Given the description of an element on the screen output the (x, y) to click on. 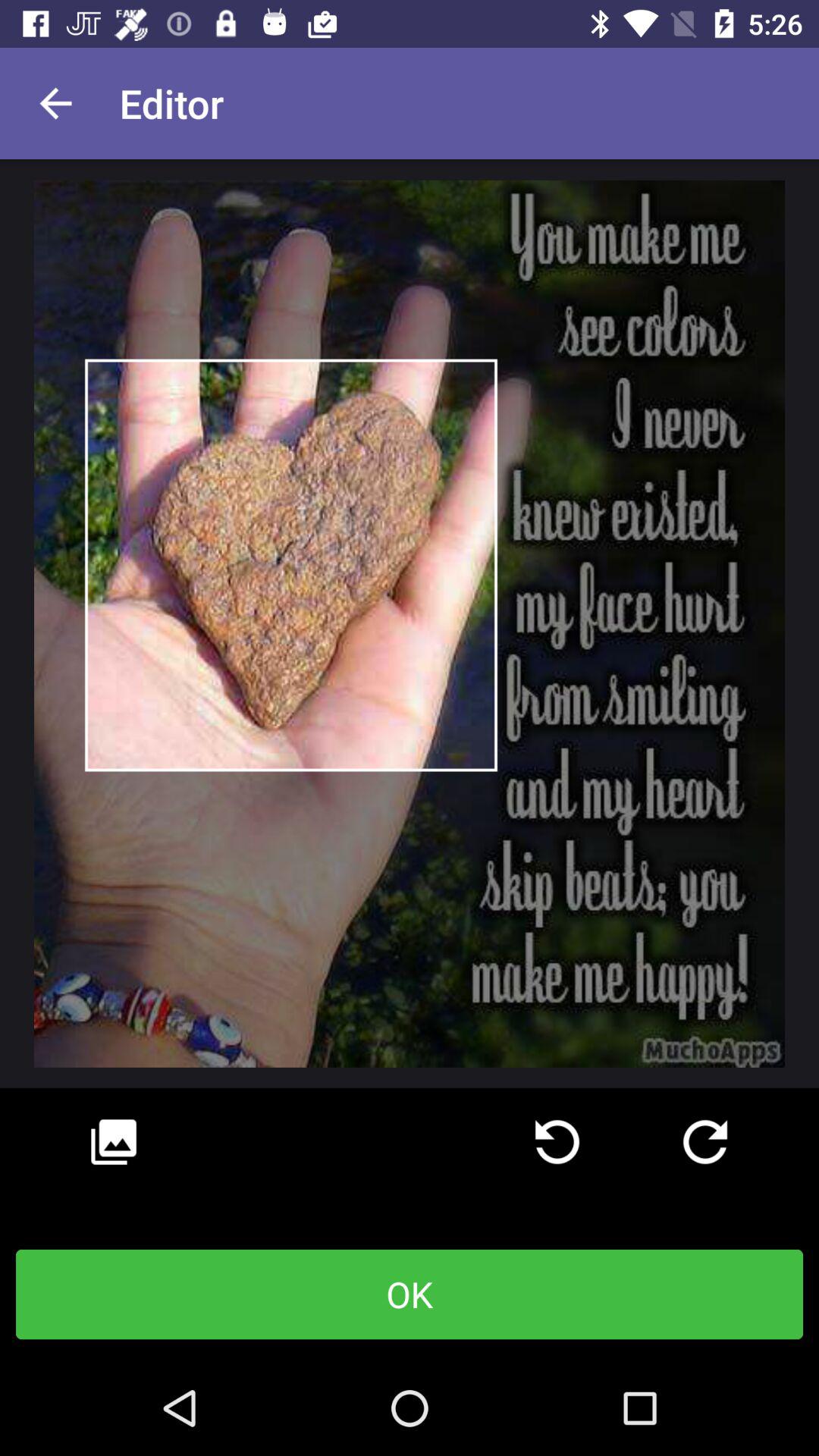
switch re-play option (705, 1142)
